Given the description of an element on the screen output the (x, y) to click on. 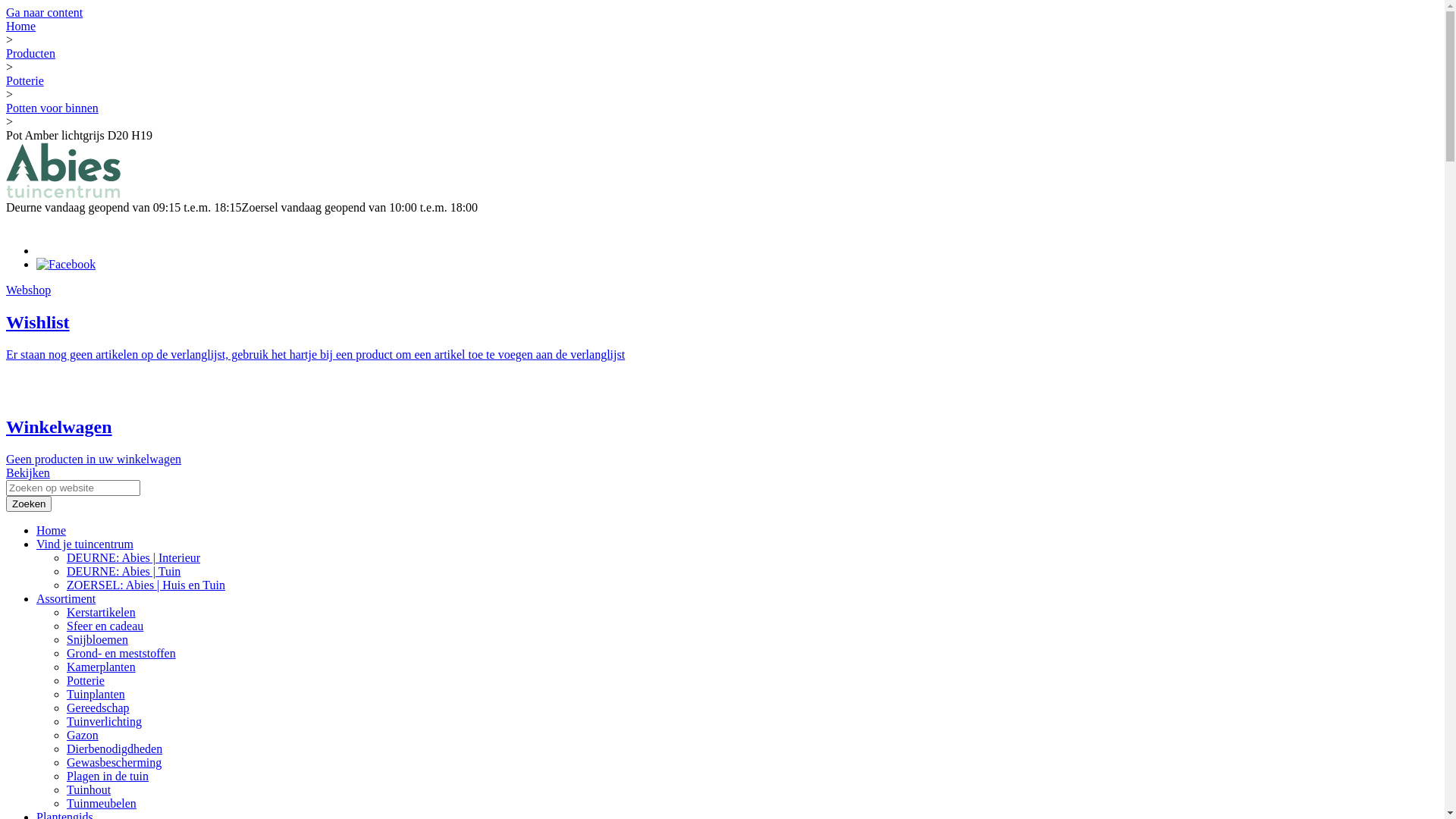
Grond- en meststoffen Element type: text (120, 652)
Sfeer en cadeau Element type: text (104, 625)
Wishlist Element type: text (37, 322)
Snijbloemen Element type: text (97, 639)
Winkelwagen Element type: text (59, 426)
DEURNE: Abies | Tuin Element type: text (123, 570)
Tuinplanten Element type: text (95, 693)
Potten voor binnen Element type: text (52, 107)
Webshop Element type: text (28, 289)
Dierbenodigdheden Element type: text (114, 748)
Ga naar content Element type: text (44, 12)
Plagen in de tuin Element type: text (107, 775)
Home Element type: text (50, 530)
Home Element type: text (20, 25)
Gewasbescherming Element type: text (113, 762)
Geen producten in uw winkelwagen Element type: text (93, 458)
Potterie Element type: text (24, 80)
Bekijken Element type: text (28, 472)
Kerstartikelen Element type: text (100, 611)
Kamerplanten Element type: text (100, 666)
Gazon Element type: text (82, 734)
Producten Element type: text (30, 53)
Vind je tuincentrum Element type: text (84, 543)
DEURNE: Abies | Interieur Element type: text (133, 557)
Potterie Element type: text (85, 680)
Tuinverlichting Element type: text (103, 721)
Assortiment Element type: text (65, 598)
Gereedschap Element type: text (97, 707)
Tuinmeubelen Element type: text (101, 803)
Tuinhout Element type: text (88, 789)
Zoeken Element type: text (28, 503)
ZOERSEL: Abies | Huis en Tuin Element type: text (145, 584)
